Given the description of an element on the screen output the (x, y) to click on. 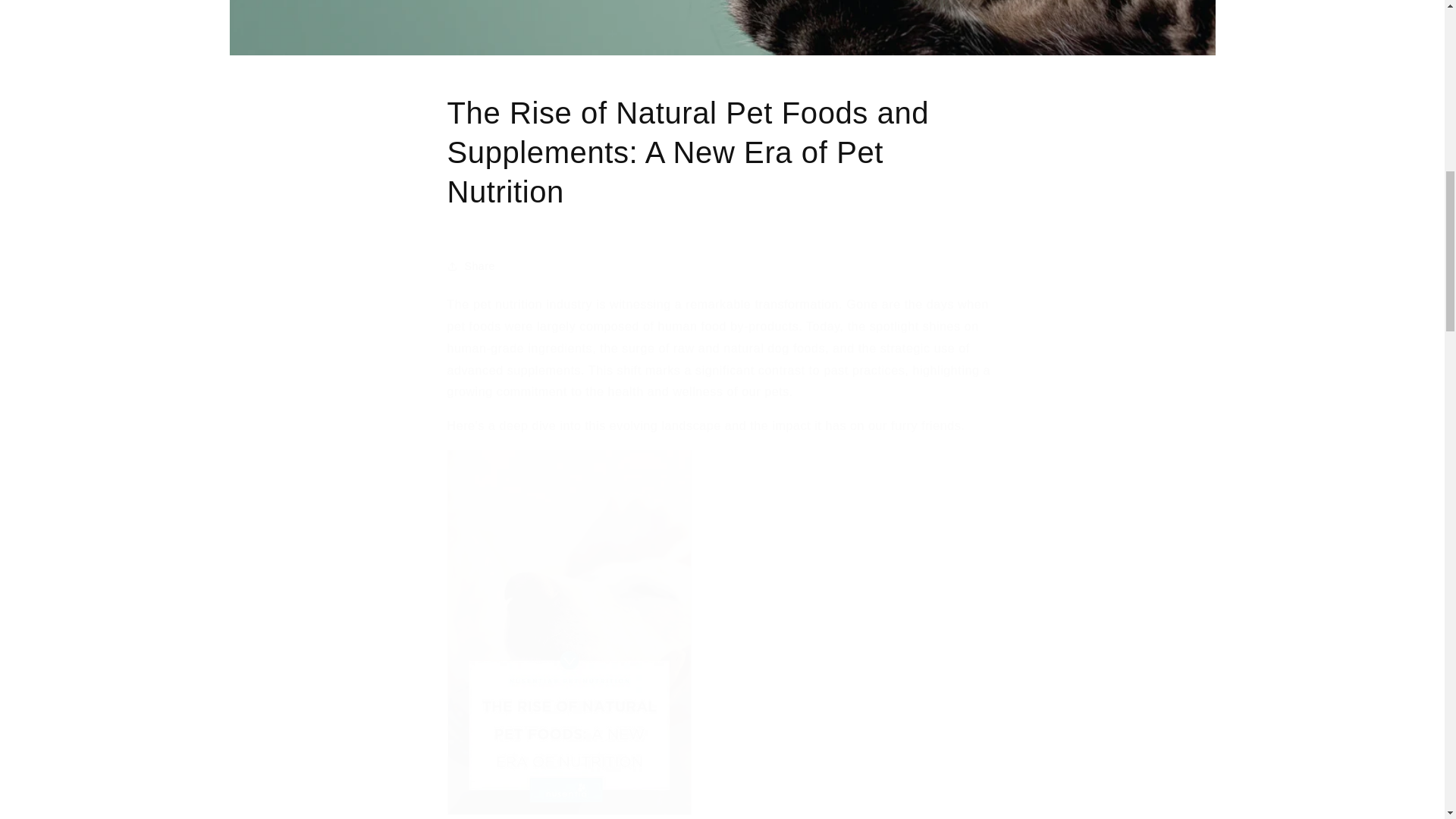
Share (721, 265)
natural pet foods and supplements (568, 813)
